Given the description of an element on the screen output the (x, y) to click on. 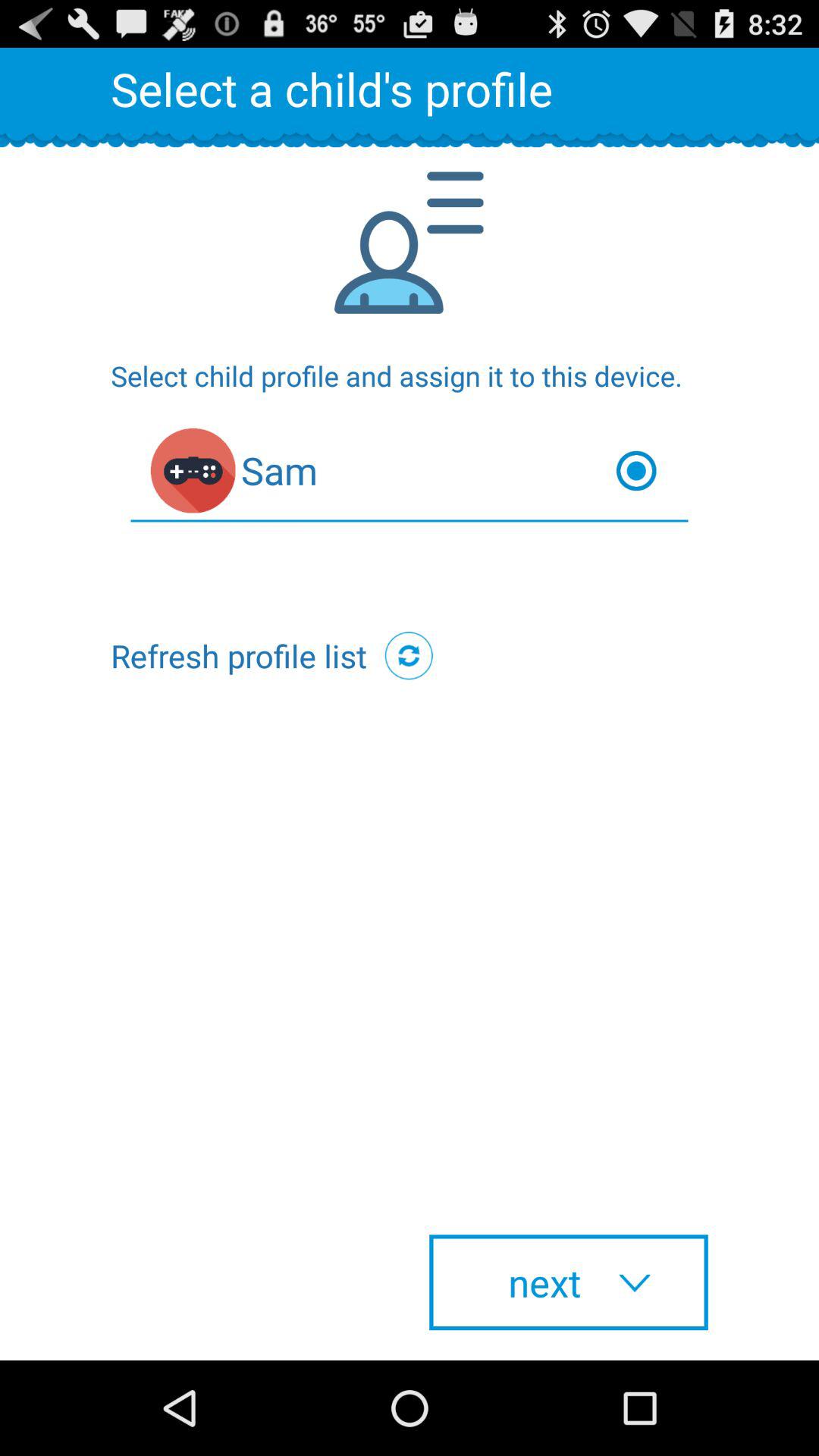
turn on the next at the bottom right corner (568, 1282)
